Given the description of an element on the screen output the (x, y) to click on. 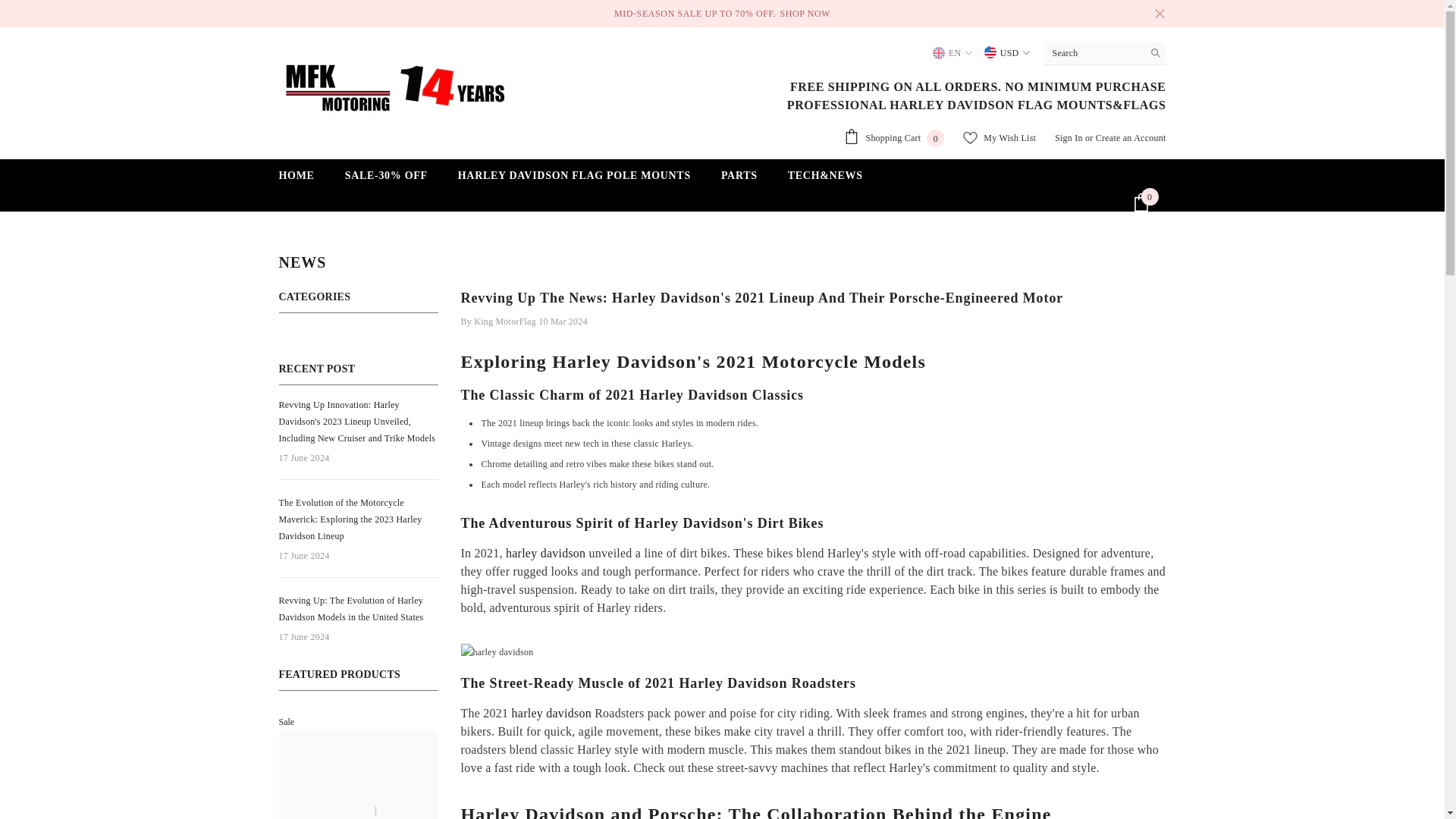
HOME (296, 180)
My Wish List (998, 137)
Close (1159, 13)
Create an Account (1131, 137)
Sign In (1068, 137)
EN (893, 138)
SHOP NOW (951, 53)
